Given the description of an element on the screen output the (x, y) to click on. 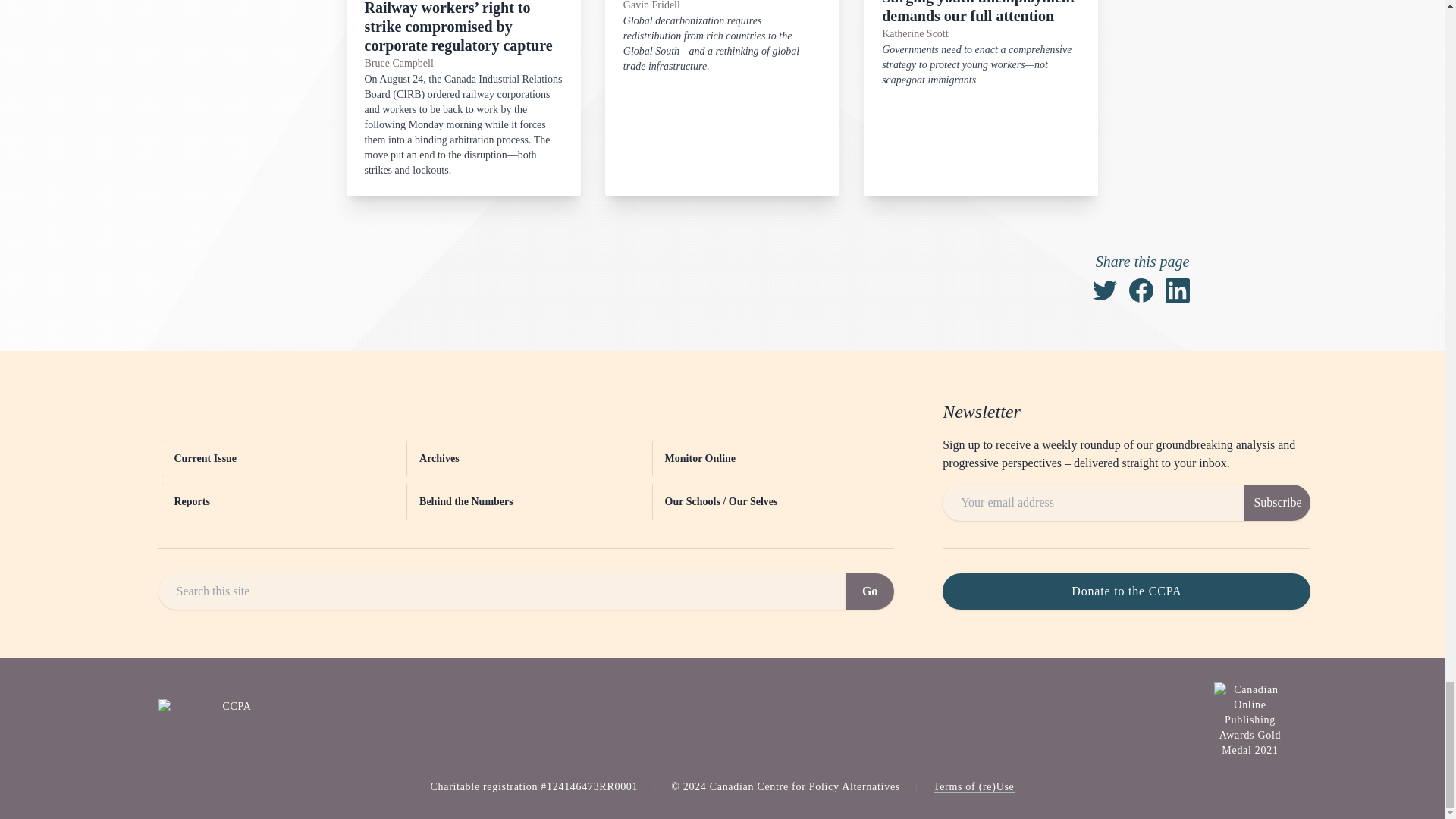
Tweet (1104, 290)
Share on LinkedIn (1176, 290)
Subscribe (1277, 502)
Share on Facebook (1140, 290)
